Given the description of an element on the screen output the (x, y) to click on. 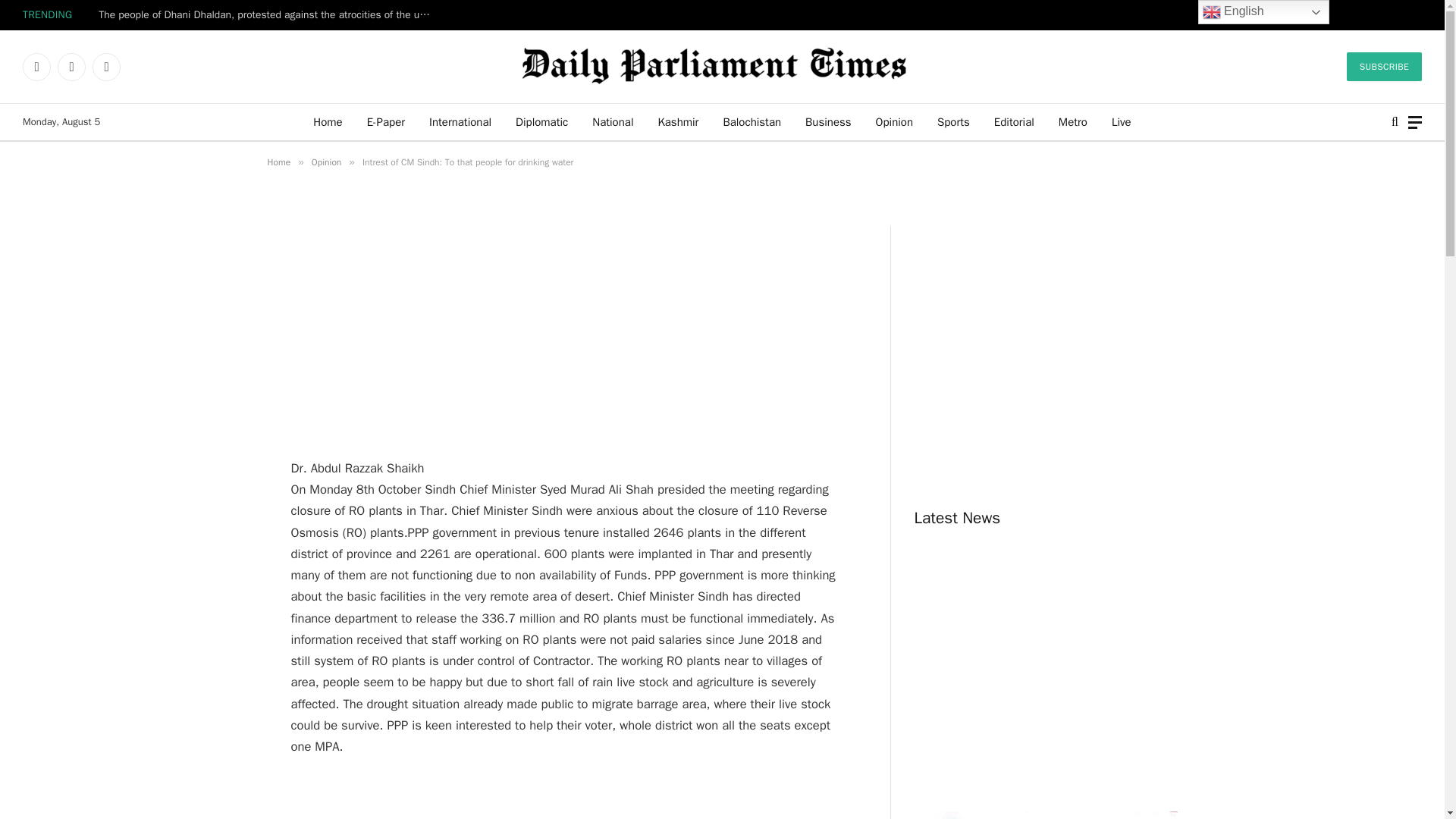
International (459, 122)
SUBSCRIBE (1384, 66)
Sports (952, 122)
Business (828, 122)
Facebook (36, 67)
Opinion (893, 122)
Diplomatic (541, 122)
Instagram (106, 67)
Metro (1072, 122)
Editorial (1013, 122)
Balochistan (751, 122)
Advertisement (566, 332)
Daily Parliament Times (721, 66)
Live (1120, 122)
Home (327, 122)
